Given the description of an element on the screen output the (x, y) to click on. 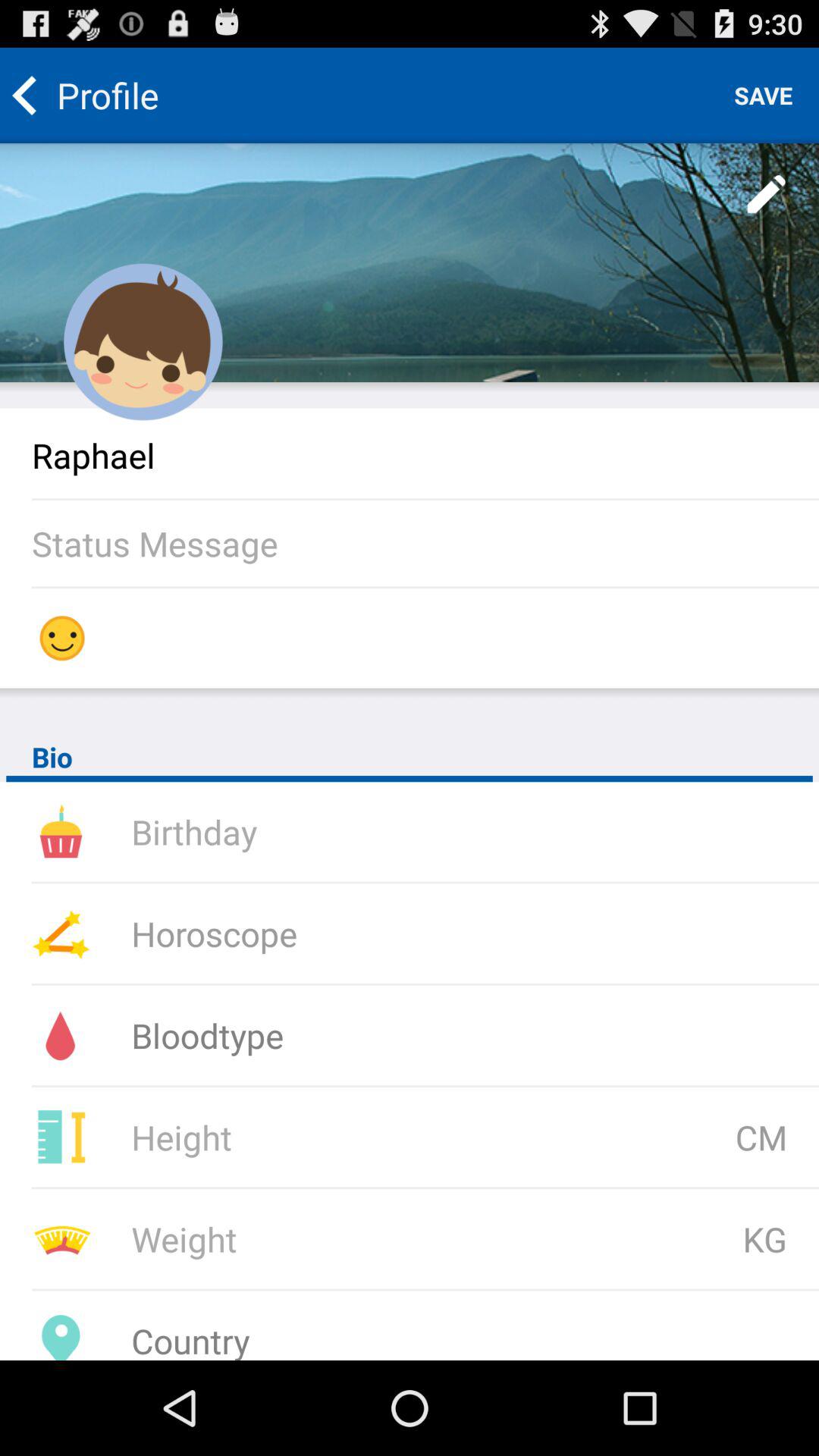
add height field (330, 1137)
